Given the description of an element on the screen output the (x, y) to click on. 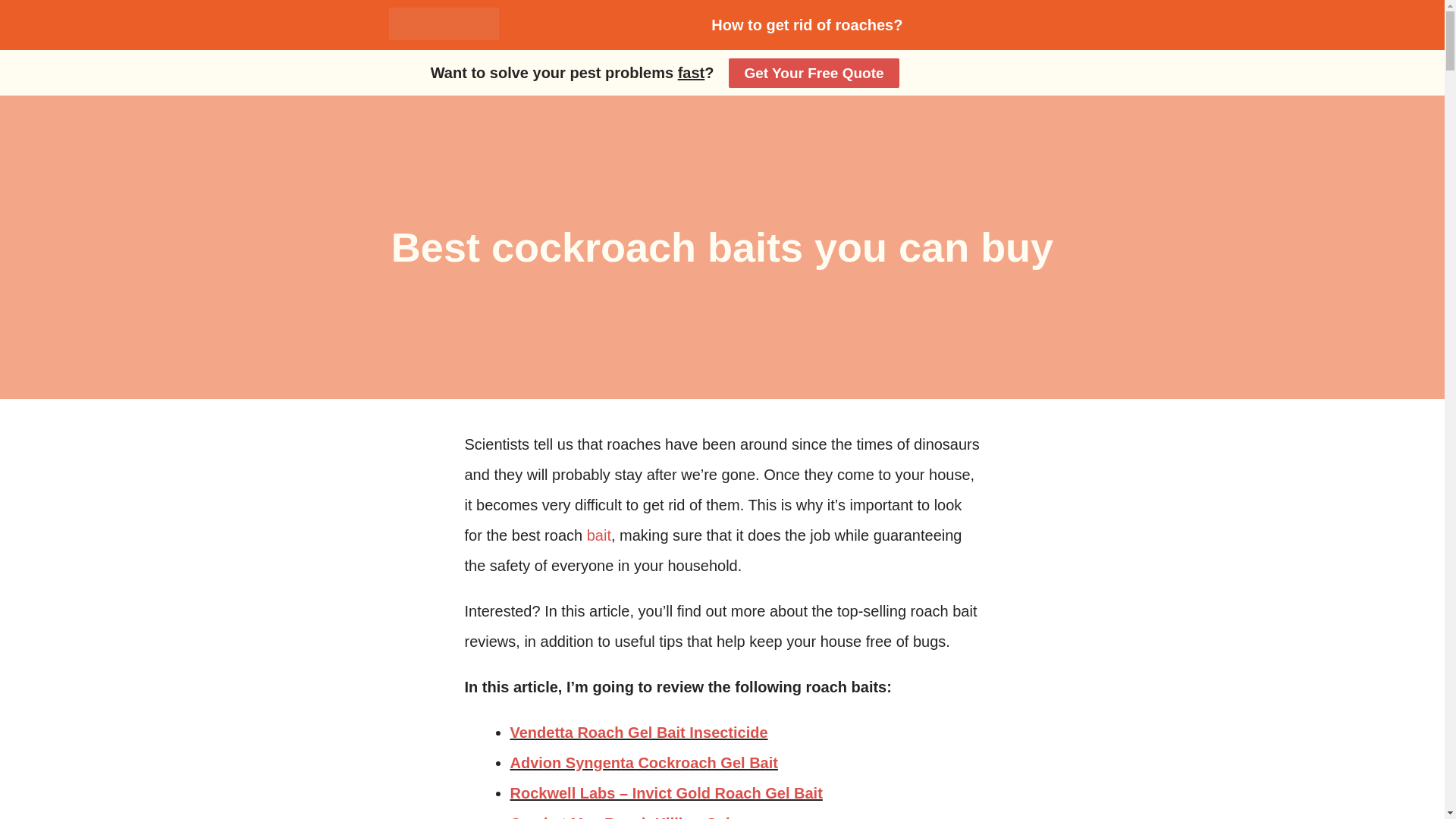
Combat Max Roach Killing Gel (619, 816)
How to get rid of roaches? (806, 24)
Advion Syngenta Cockroach Gel Bait (643, 762)
Get Your Free Quote (813, 72)
bait (598, 535)
Vendetta Roach Gel Bait Insecticide (638, 732)
